Given the description of an element on the screen output the (x, y) to click on. 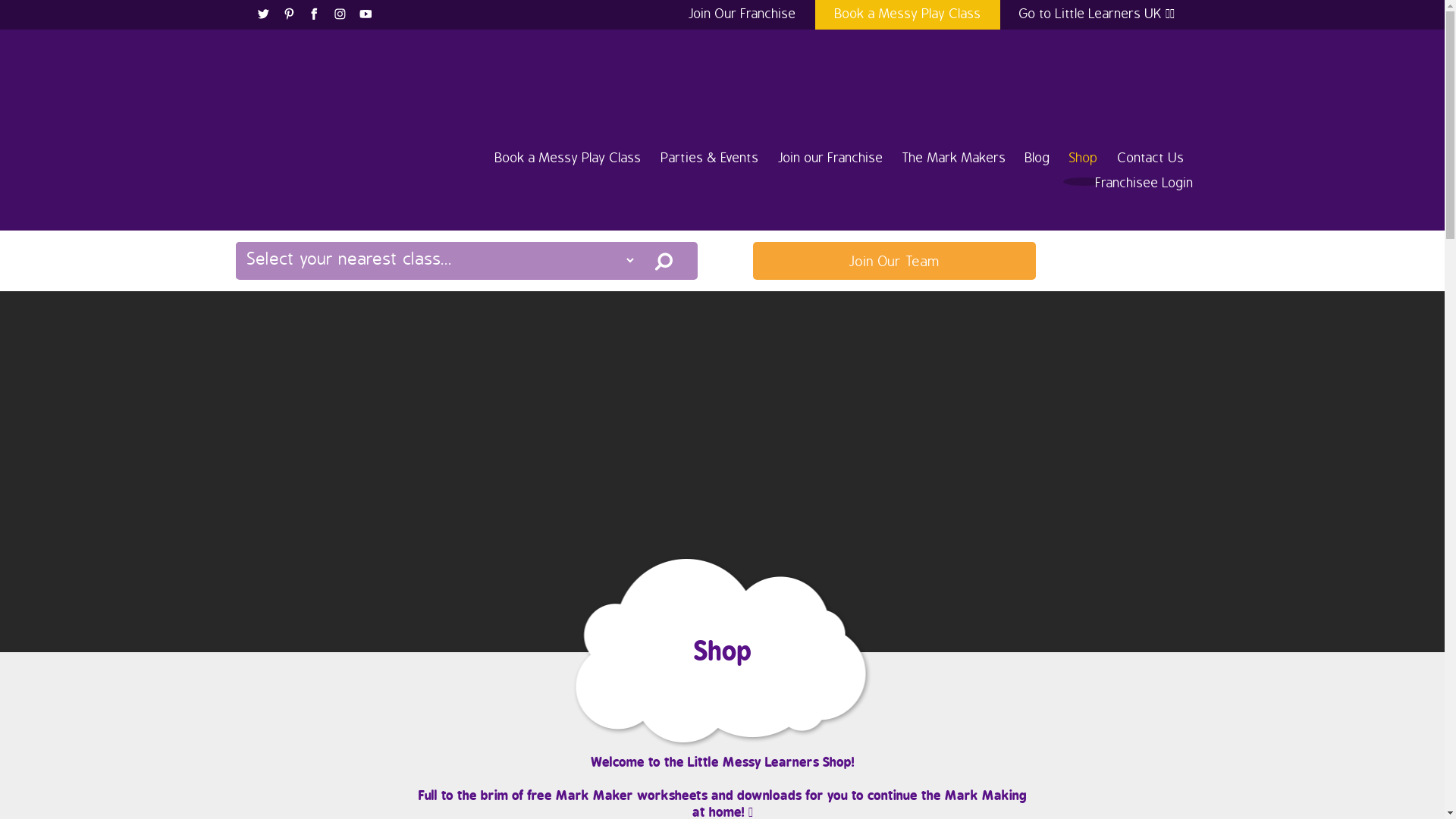
Join Our Franchise Element type: text (742, 14)
The Mark Makers Element type: text (954, 157)
Parties & Events Element type: text (710, 157)
Join Our Team Element type: text (894, 260)
Book a Messy Play Class Element type: text (907, 14)
Blog Element type: text (1037, 157)
Contact Us Element type: text (1150, 157)
Franchisee Login Element type: text (1144, 183)
Join our Franchise Element type: text (830, 157)
Shop Element type: text (1083, 157)
Book a Messy Play Class Element type: text (568, 157)
